Given the description of an element on the screen output the (x, y) to click on. 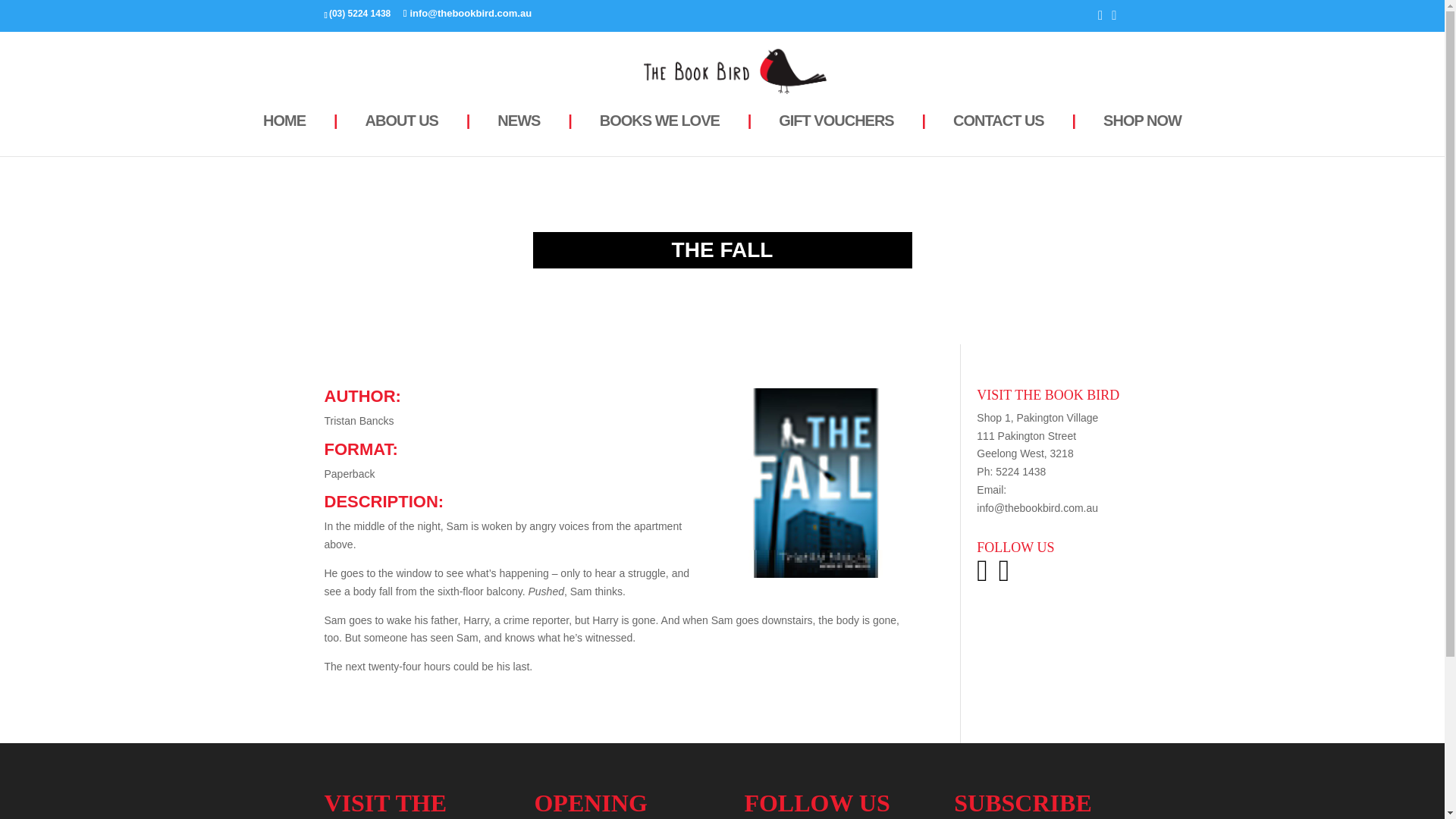
GIFT VOUCHERS (835, 131)
HOME (284, 131)
BOOKS WE LOVE (659, 131)
ABOUT US (400, 131)
SHOP NOW (1142, 131)
NEWS (518, 131)
CONTACT US (998, 131)
